Given the description of an element on the screen output the (x, y) to click on. 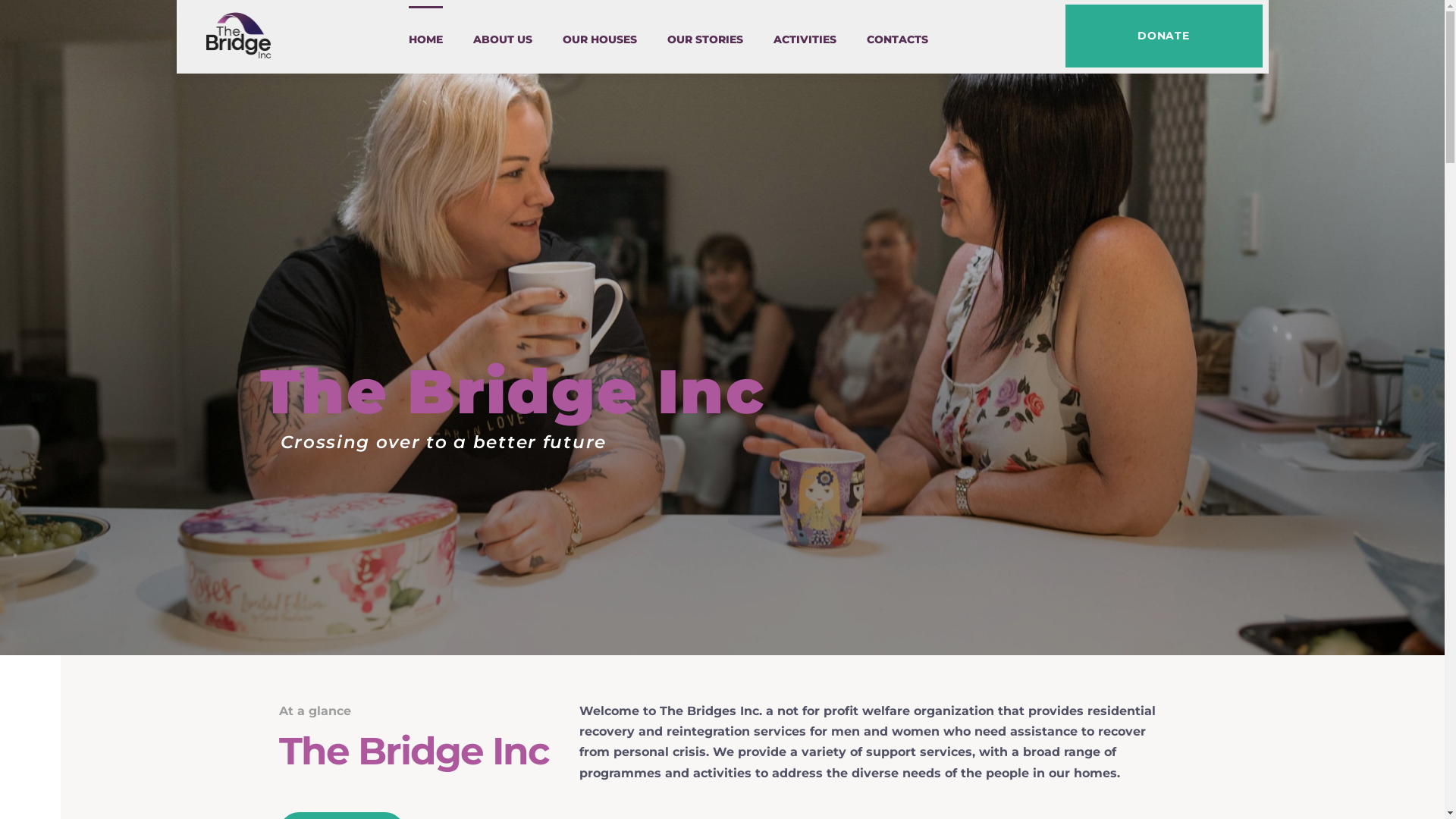
ACTIVITIES Element type: text (804, 40)
OUR HOUSES Element type: text (599, 40)
OUR STORIES Element type: text (705, 40)
ABOUT US Element type: text (502, 40)
HOME Element type: text (424, 40)
CONTACTS Element type: text (896, 40)
DONATE Element type: text (1162, 35)
